Given the description of an element on the screen output the (x, y) to click on. 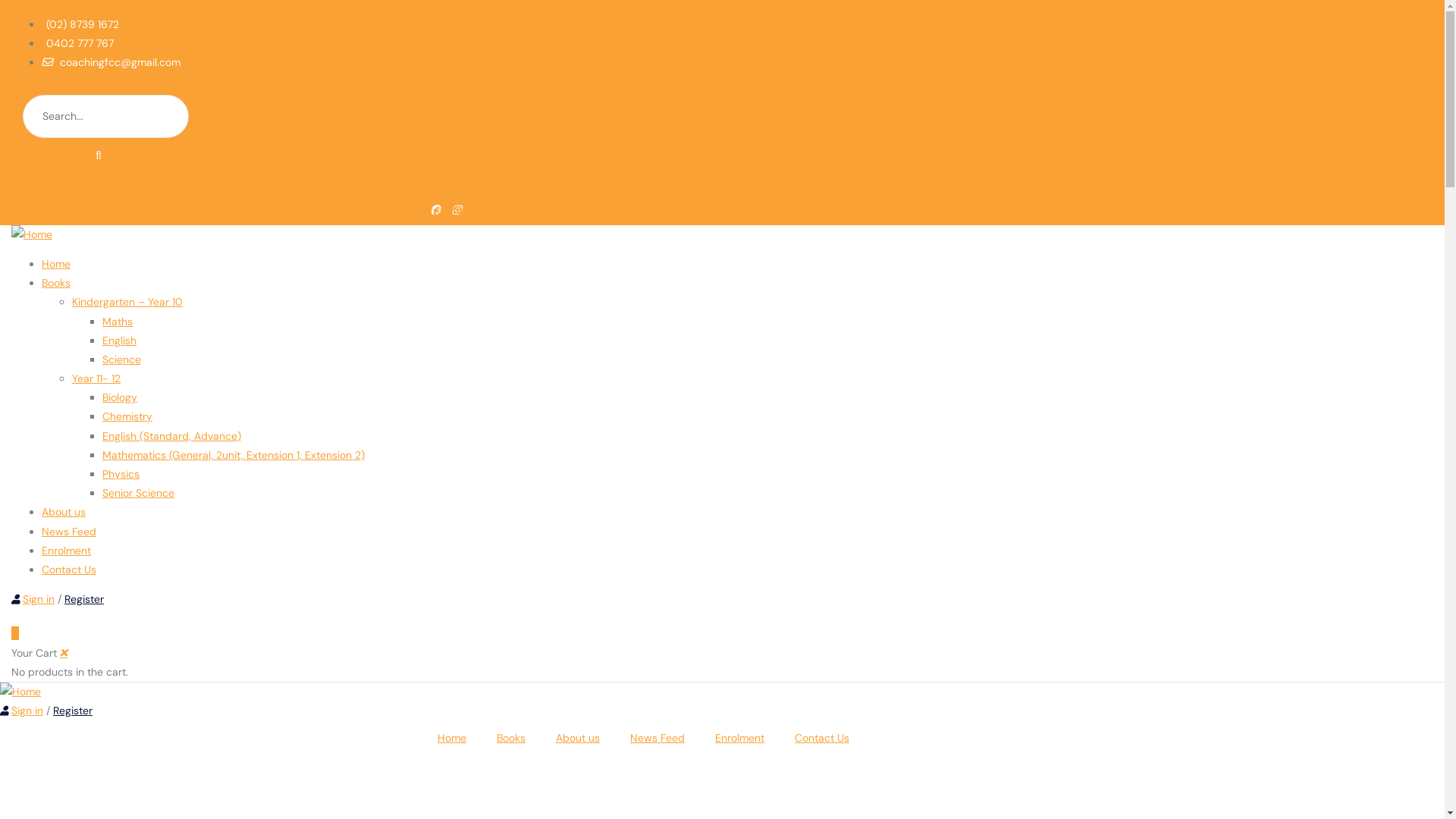
English (Standard, Advance) Element type: text (171, 435)
Enrolment Element type: text (739, 737)
Register Element type: text (83, 598)
About us Element type: text (577, 737)
Mathematics (General, 2unit, Extension 1, Extension 2) Element type: text (233, 454)
Sign in Element type: text (27, 710)
Register Element type: text (72, 710)
Home Element type: text (451, 737)
Books Element type: text (510, 737)
Senior Science Element type: text (138, 492)
Books Element type: text (55, 282)
News Feed Element type: text (657, 737)
Enrolment Element type: text (66, 550)
Maths Element type: text (117, 320)
Home Element type: text (55, 263)
Biology Element type: text (119, 397)
Contact Us Element type: text (821, 737)
Contact Us Element type: text (68, 569)
Home Element type: hover (31, 234)
English Element type: text (119, 340)
Year 11- 12 Element type: text (96, 378)
0 Element type: text (14, 633)
Home Element type: hover (20, 691)
(02) 8739 1672 Element type: text (80, 24)
News Feed Element type: text (68, 531)
Physics Element type: text (120, 473)
About us Element type: text (63, 511)
Tiktok Element type: text (453, 209)
Science Element type: text (121, 359)
Facebook Element type: text (410, 209)
Chemistry Element type: text (127, 416)
Sign in Element type: text (38, 598)
Instagram Element type: text (431, 209)
0402 777 767 Element type: text (77, 43)
